Given the description of an element on the screen output the (x, y) to click on. 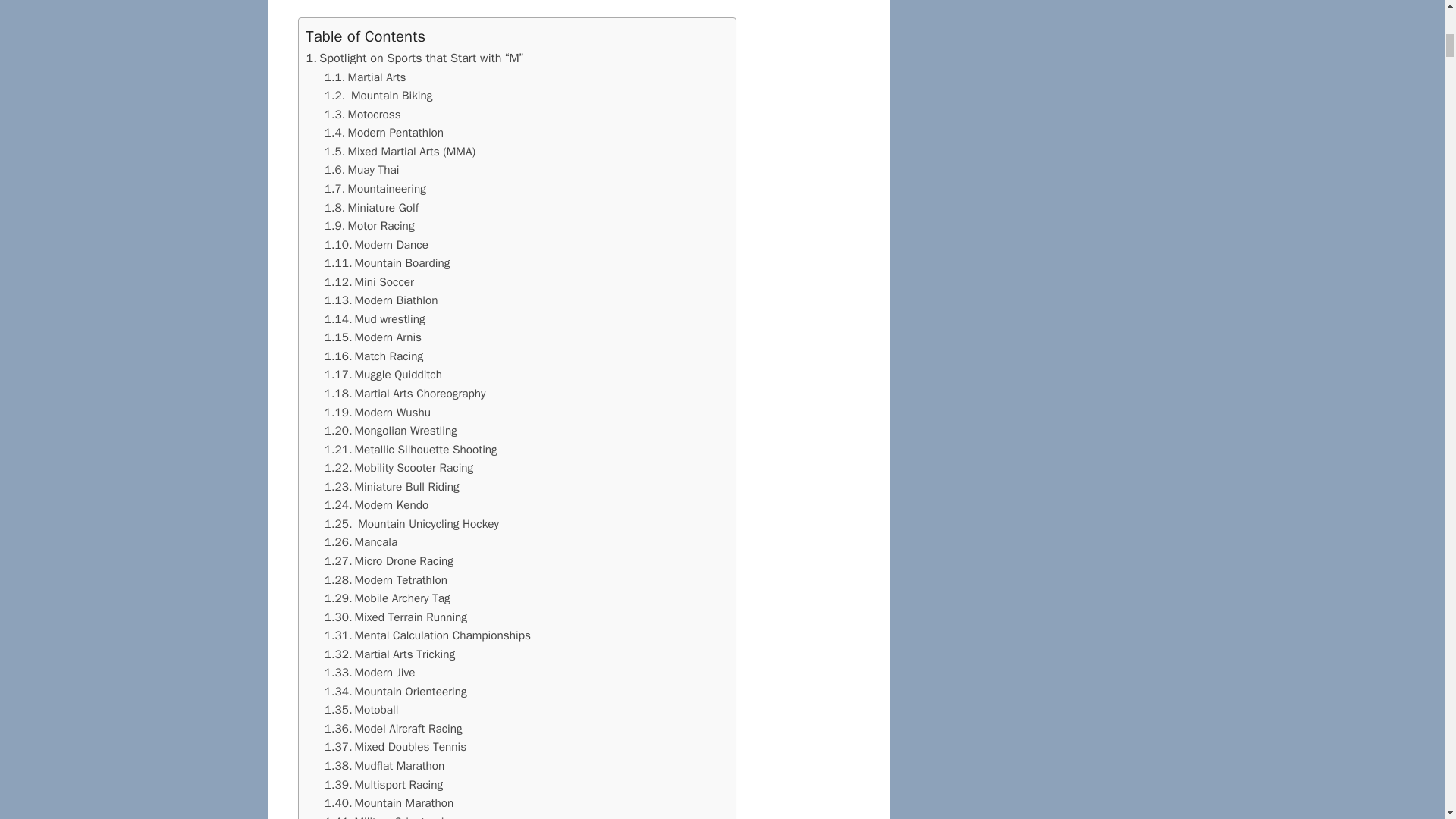
Muay Thai (361, 169)
Motocross (362, 114)
Mountain Boarding (386, 263)
Motor Racing (369, 225)
Modern Dance (376, 244)
Miniature Golf (371, 207)
 Mountain Biking (378, 95)
Modern Pentathlon (384, 132)
Mountaineering (375, 188)
Martial Arts (365, 77)
